Given the description of an element on the screen output the (x, y) to click on. 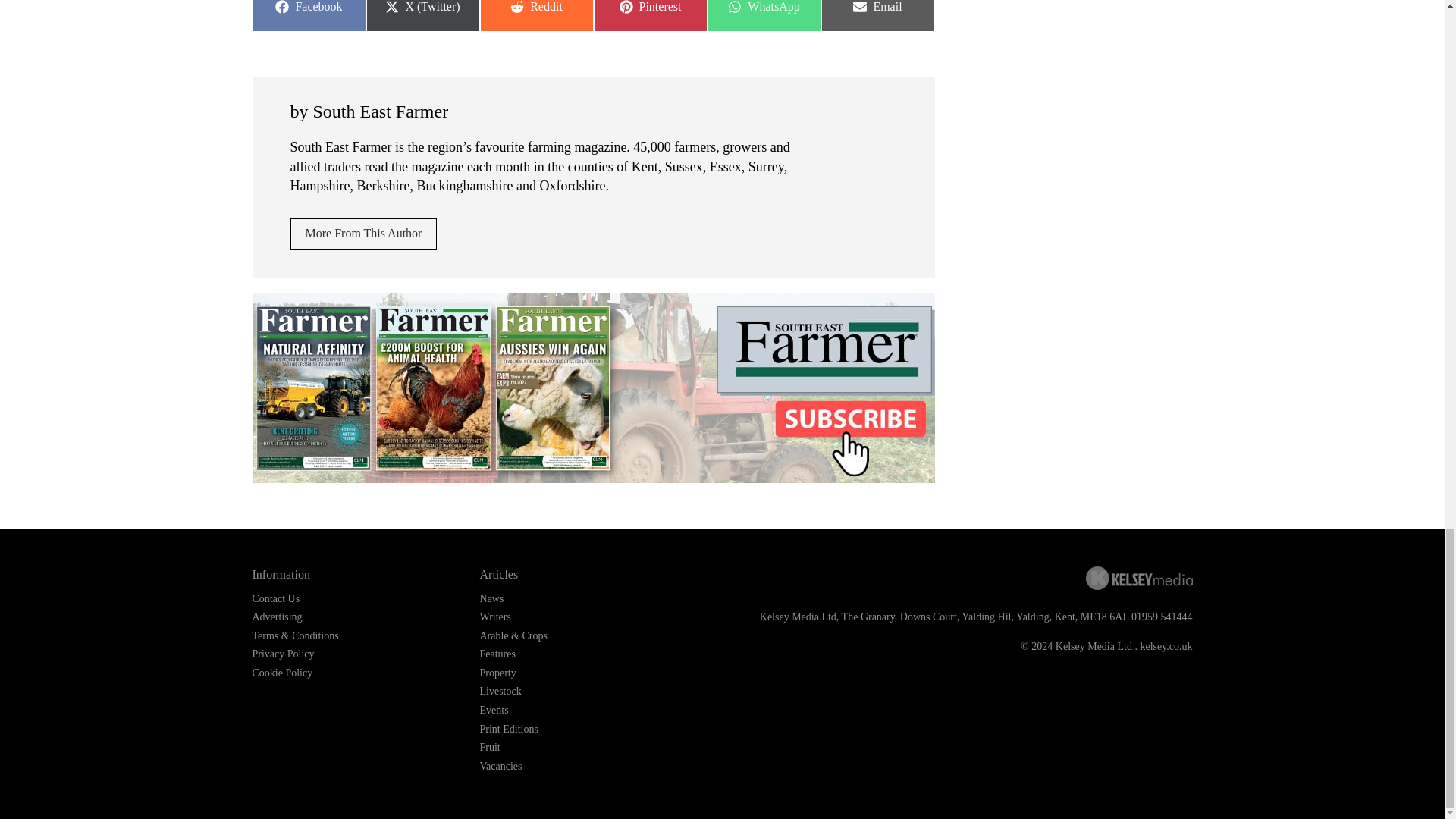
Advertising (276, 616)
Contact Us (763, 15)
More From This Author (535, 15)
